Given the description of an element on the screen output the (x, y) to click on. 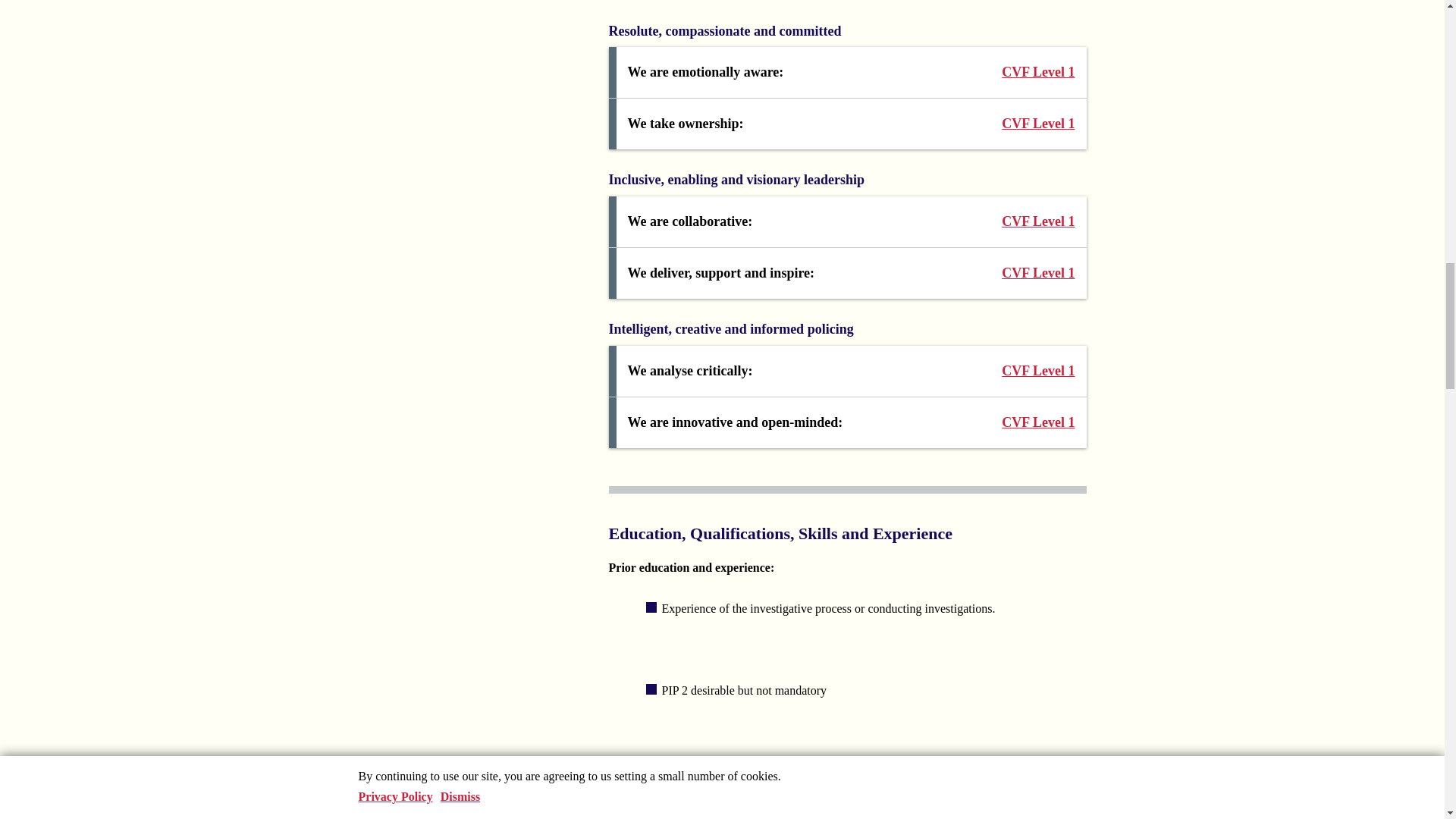
CVF Level 1 (1034, 123)
CVF Level 1 (1034, 221)
CVF Level 1 (1034, 272)
CVF Level 1 (1034, 72)
CVF Level 1 (1034, 371)
CVF Level 1 (1034, 422)
